Given the description of an element on the screen output the (x, y) to click on. 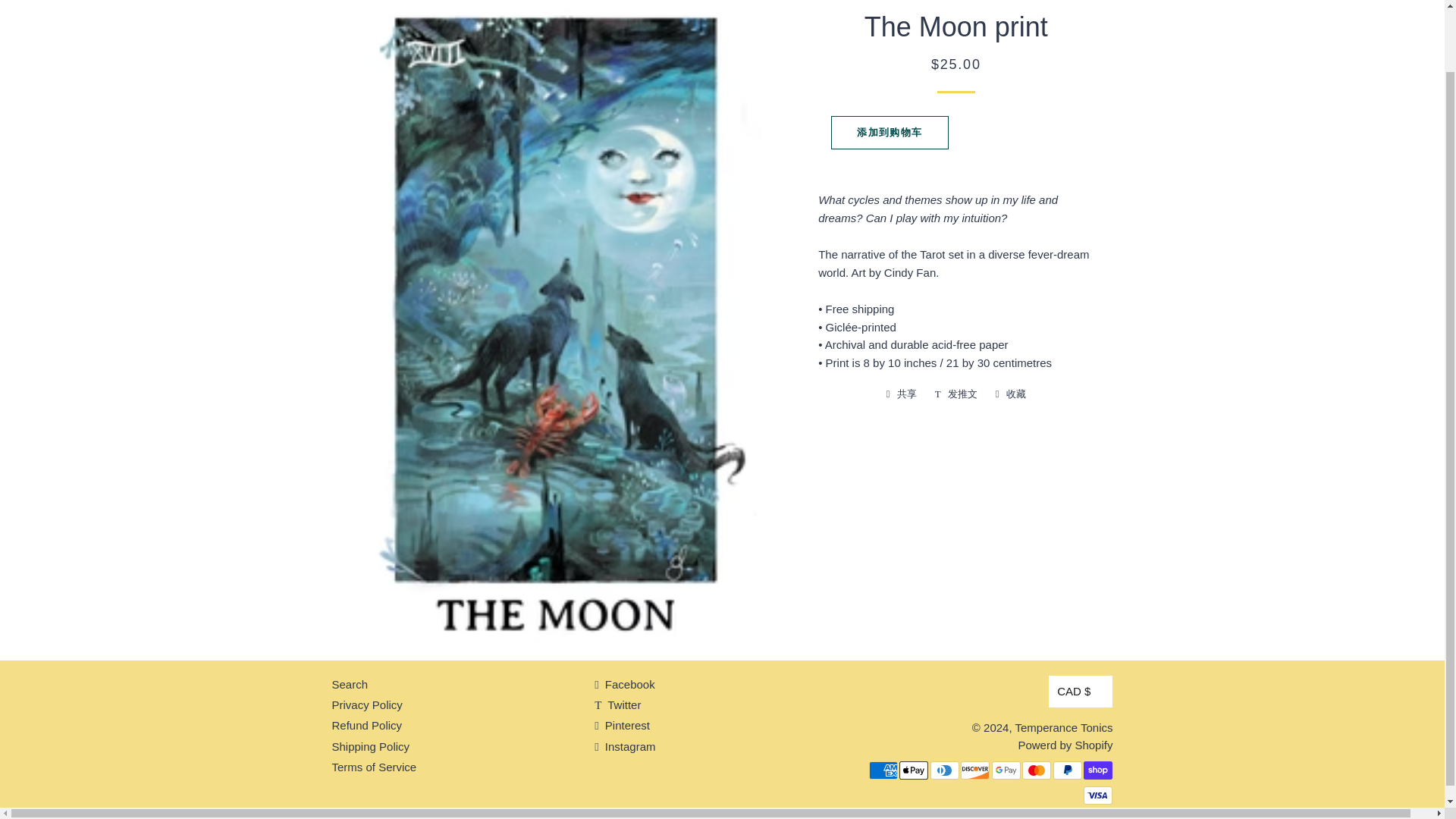
Discover (975, 770)
Search (349, 684)
Shop Pay (1097, 770)
Diners Club (944, 770)
Mastercard (1036, 770)
Terms of Service (373, 766)
American Express (883, 770)
Refund Policy (367, 725)
Facebook (624, 684)
Apple Pay (913, 770)
PayPal (1066, 770)
Shipping Policy (370, 746)
Privacy Policy (367, 704)
Visa (1097, 795)
Google Pay (1005, 770)
